Given the description of an element on the screen output the (x, y) to click on. 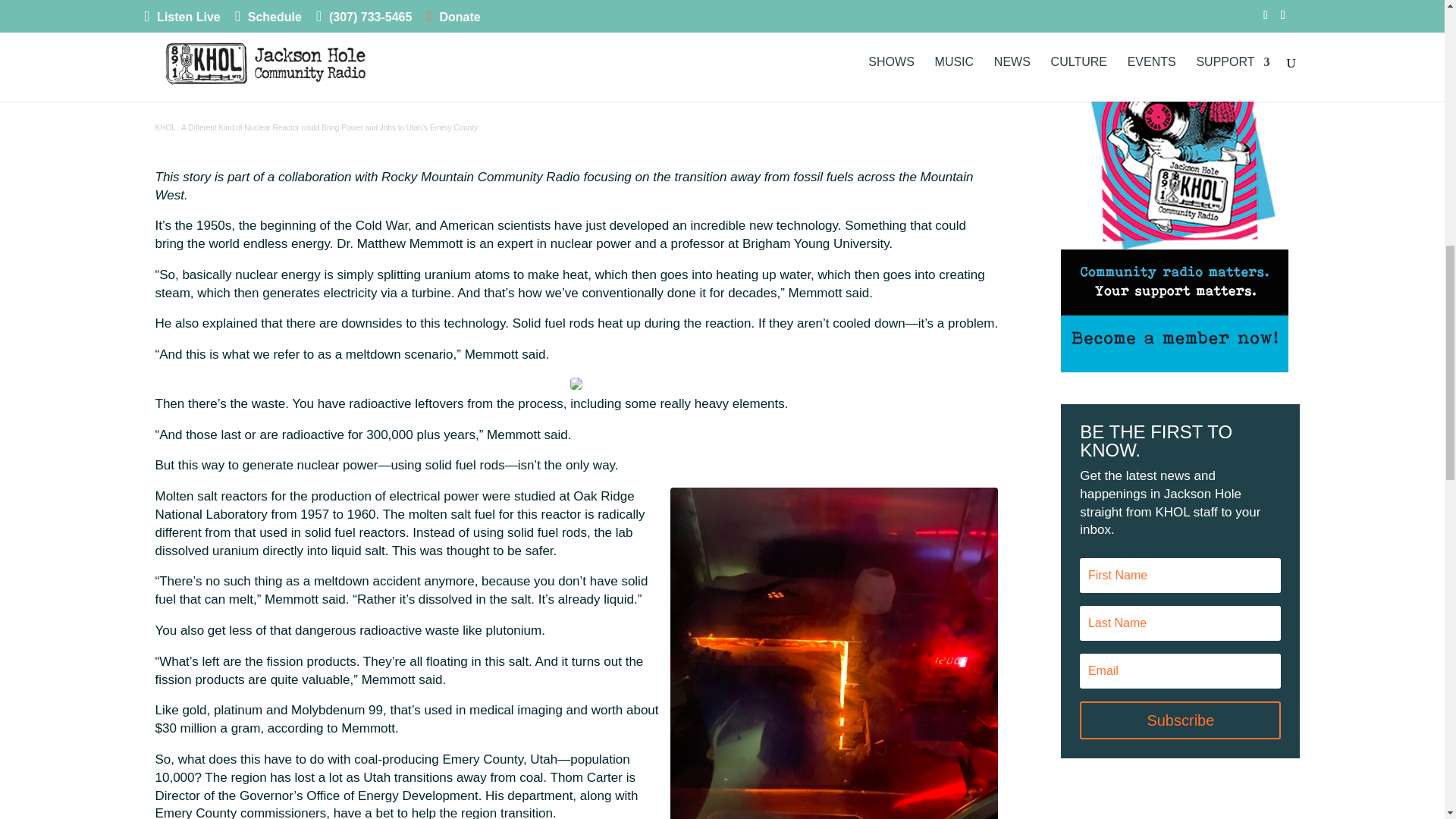
KHOL (164, 127)
KHOL (164, 127)
Subscribe (1180, 720)
